Given the description of an element on the screen output the (x, y) to click on. 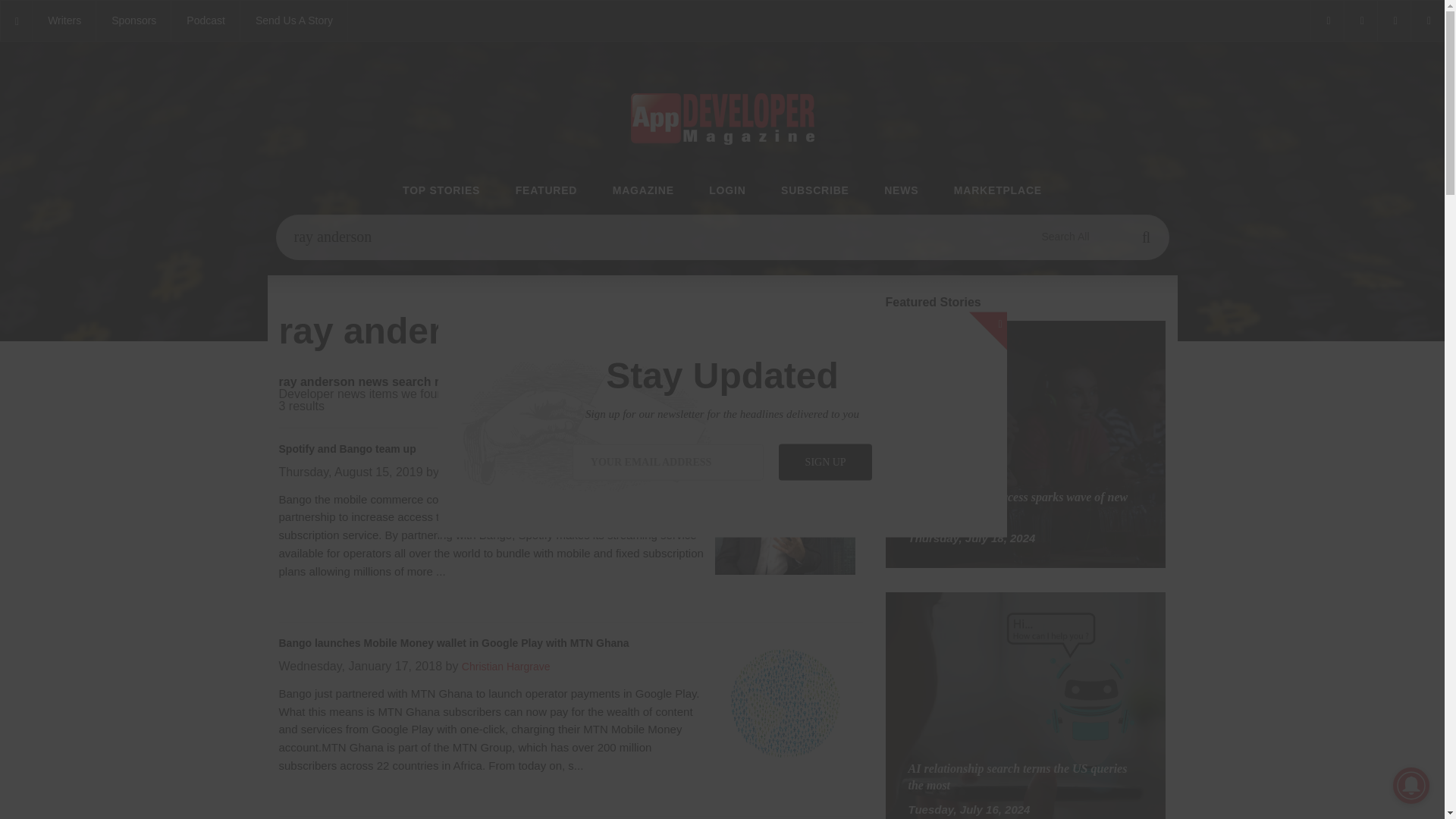
App Developer Magazine Sponsors (133, 20)
FEATURED (546, 190)
Submit App News or Press Release (293, 20)
Our Writers (64, 20)
Sponsors (133, 20)
sign up (825, 461)
LOGIN (727, 190)
Podcast (205, 20)
ray anderson (722, 236)
Send Us A Story (293, 20)
MAGAZINE (643, 190)
Writers (64, 20)
TOP STORIES (441, 190)
NEWS (900, 190)
